Given the description of an element on the screen output the (x, y) to click on. 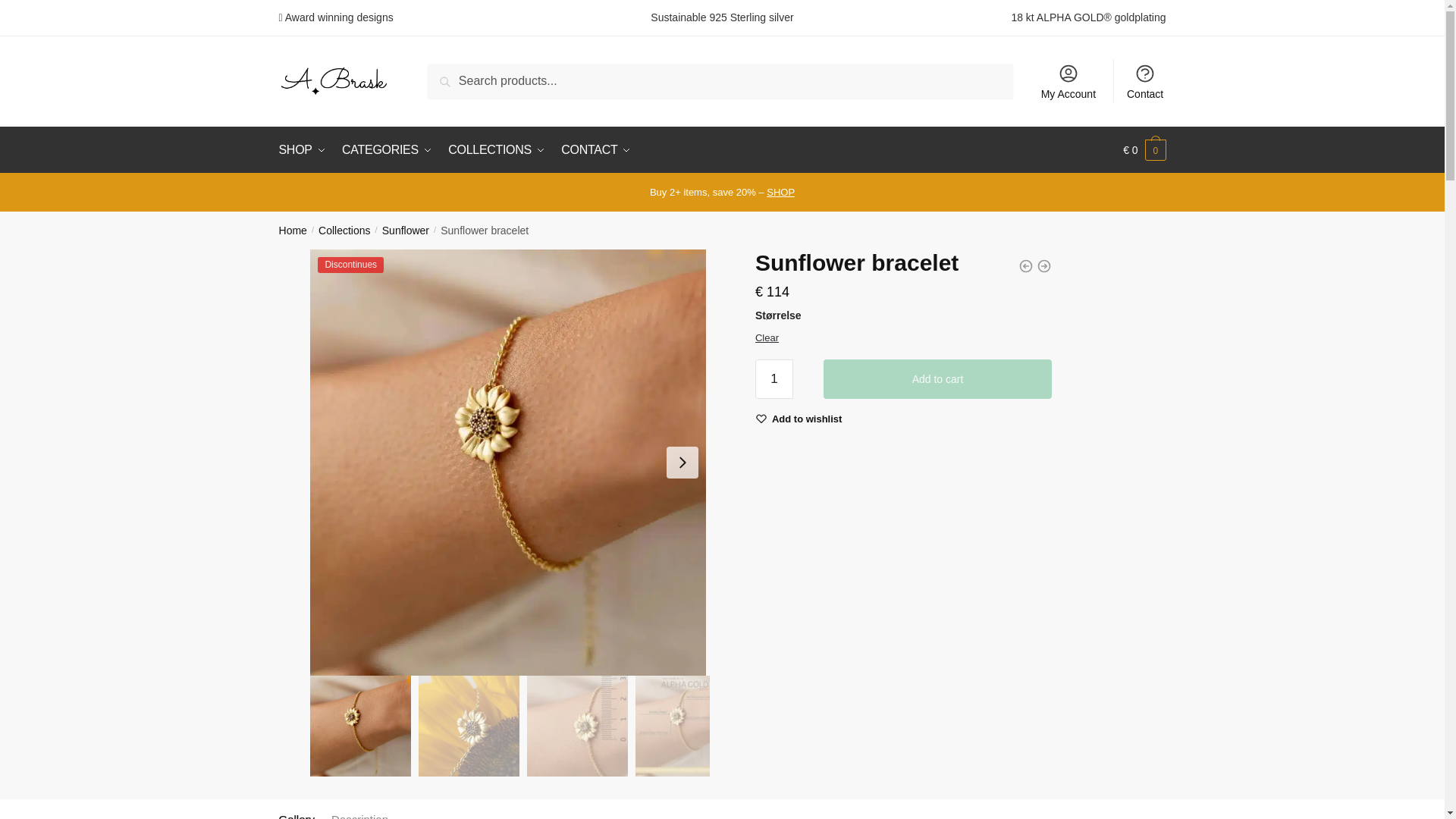
SHOP (305, 149)
COLLECTIONS (496, 149)
Search (465, 80)
19 (360, 725)
19 (577, 725)
Sustainable 925 Sterling silver (721, 17)
1 (774, 378)
Contact (1145, 80)
CONTACT (595, 149)
View your shopping cart (1144, 149)
CATEGORIES (387, 149)
19 (685, 725)
My Account (1067, 80)
Size Products (469, 725)
